Given the description of an element on the screen output the (x, y) to click on. 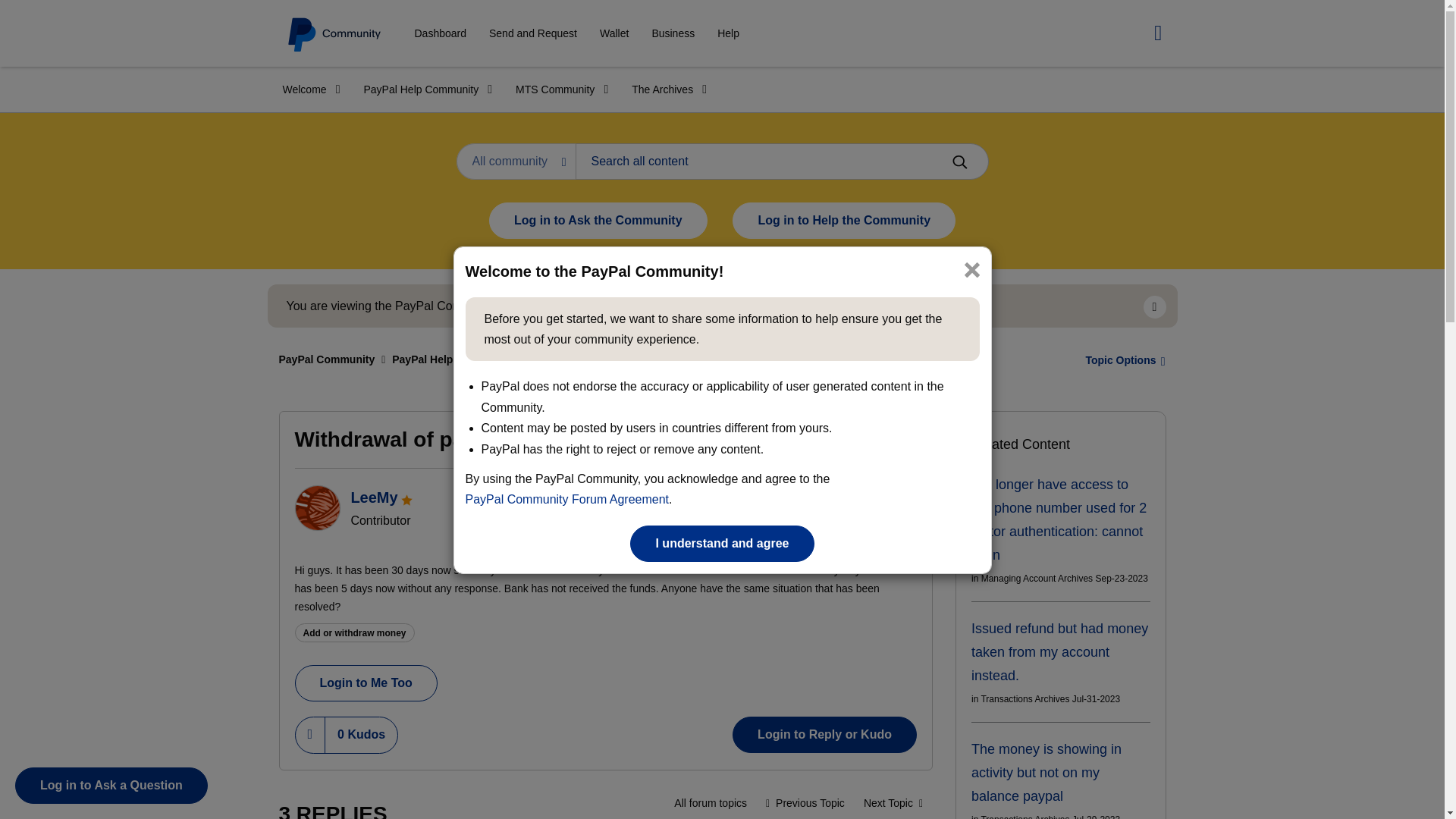
Search (959, 161)
Posted on (845, 536)
The total number of kudos this post has received. (360, 734)
Dashboard (439, 33)
Show option menu (1120, 359)
Help (728, 33)
LeeMy (316, 507)
Wallet (613, 33)
The Archives (663, 89)
Business (672, 33)
